Given the description of an element on the screen output the (x, y) to click on. 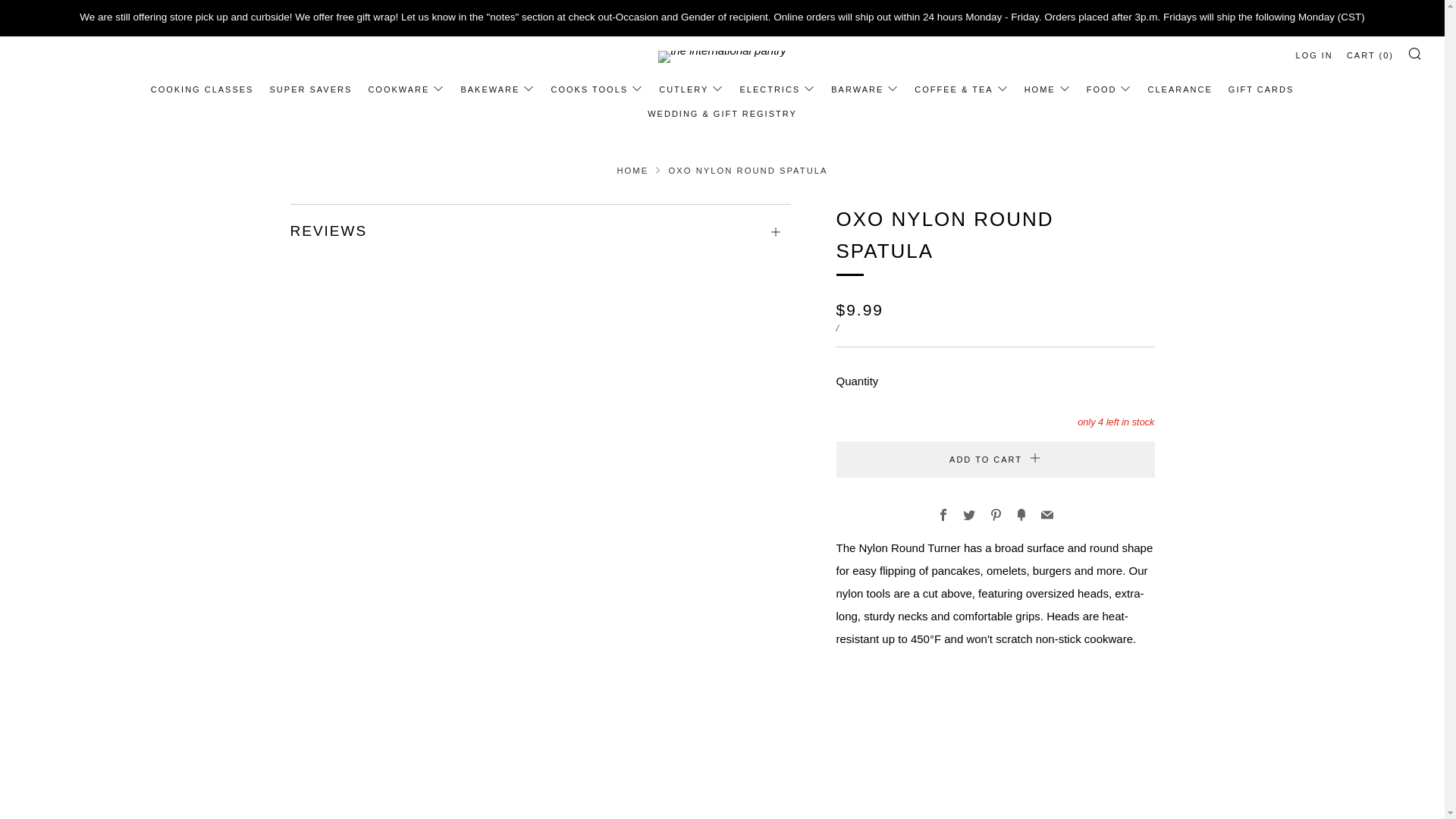
Home (631, 170)
